Given the description of an element on the screen output the (x, y) to click on. 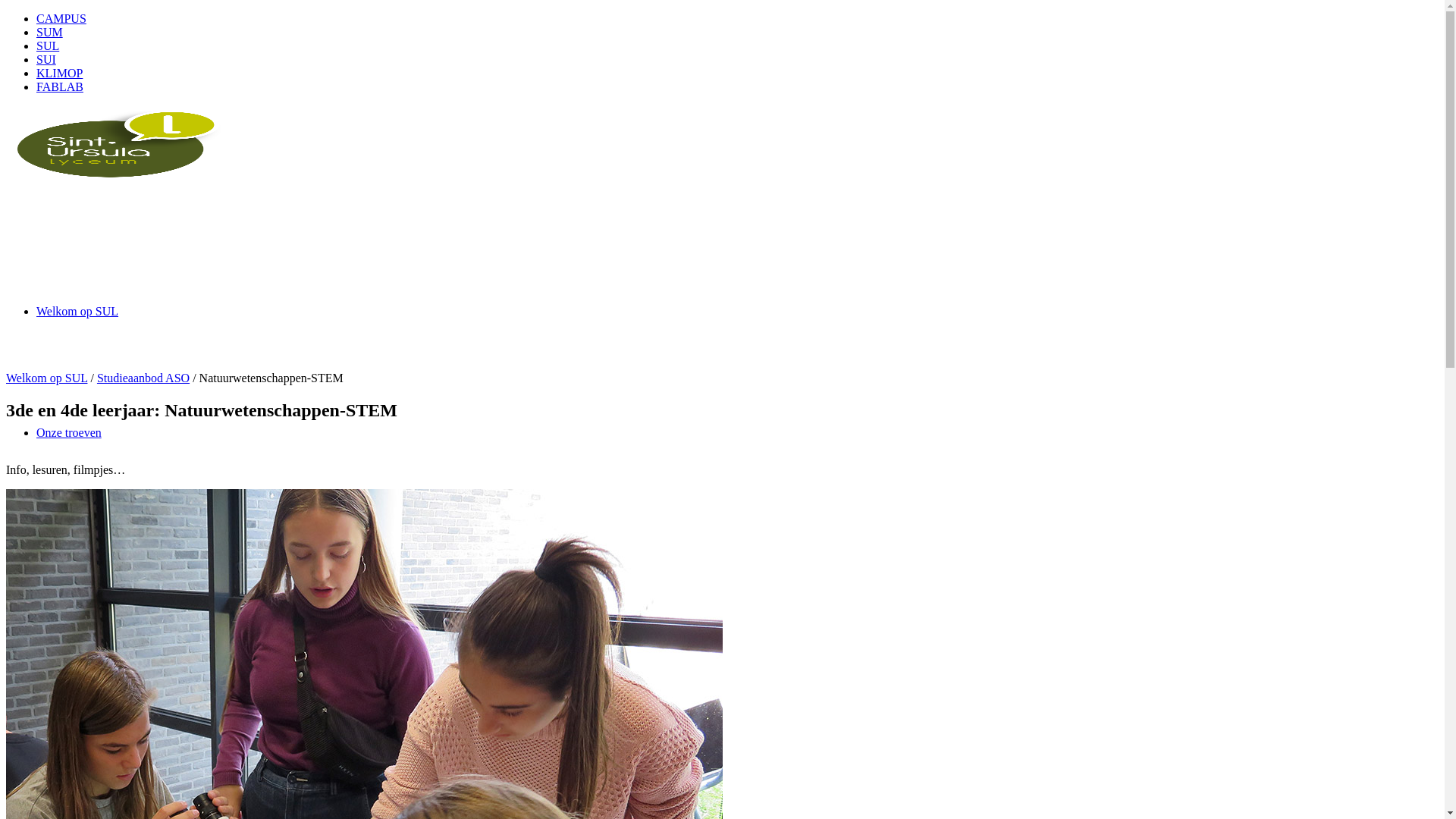
CAMPUS Element type: text (61, 18)
SUL Element type: text (47, 45)
FABLAB Element type: text (59, 86)
Inschrijvingen Element type: text (71, 674)
Studieaanbod Element type: text (69, 553)
SUI Element type: text (46, 59)
Campagne Element type: text (61, 796)
KLIMOP Element type: text (59, 72)
Studieaanbod ASO Element type: text (143, 377)
SUM Element type: text (49, 31)
Onze troeven Element type: text (68, 432)
Welkom op SUL Element type: text (77, 310)
Welkom op SUL Element type: text (46, 377)
